Given the description of an element on the screen output the (x, y) to click on. 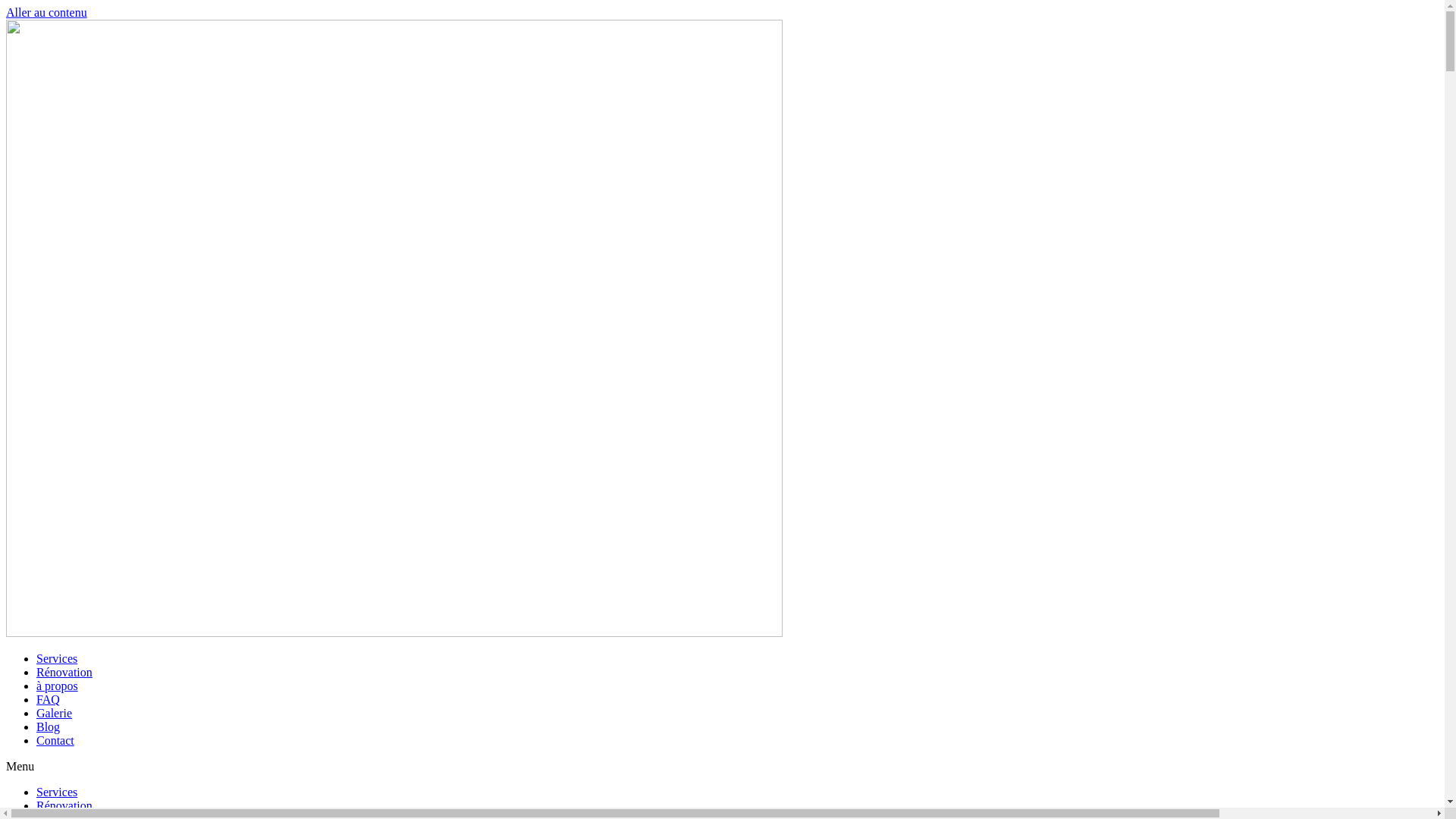
FAQ Element type: text (47, 699)
Services Element type: text (56, 658)
Aller au contenu Element type: text (46, 12)
Services Element type: text (56, 791)
Galerie Element type: text (54, 712)
Contact Element type: text (55, 740)
Blog Element type: text (47, 726)
